Given the description of an element on the screen output the (x, y) to click on. 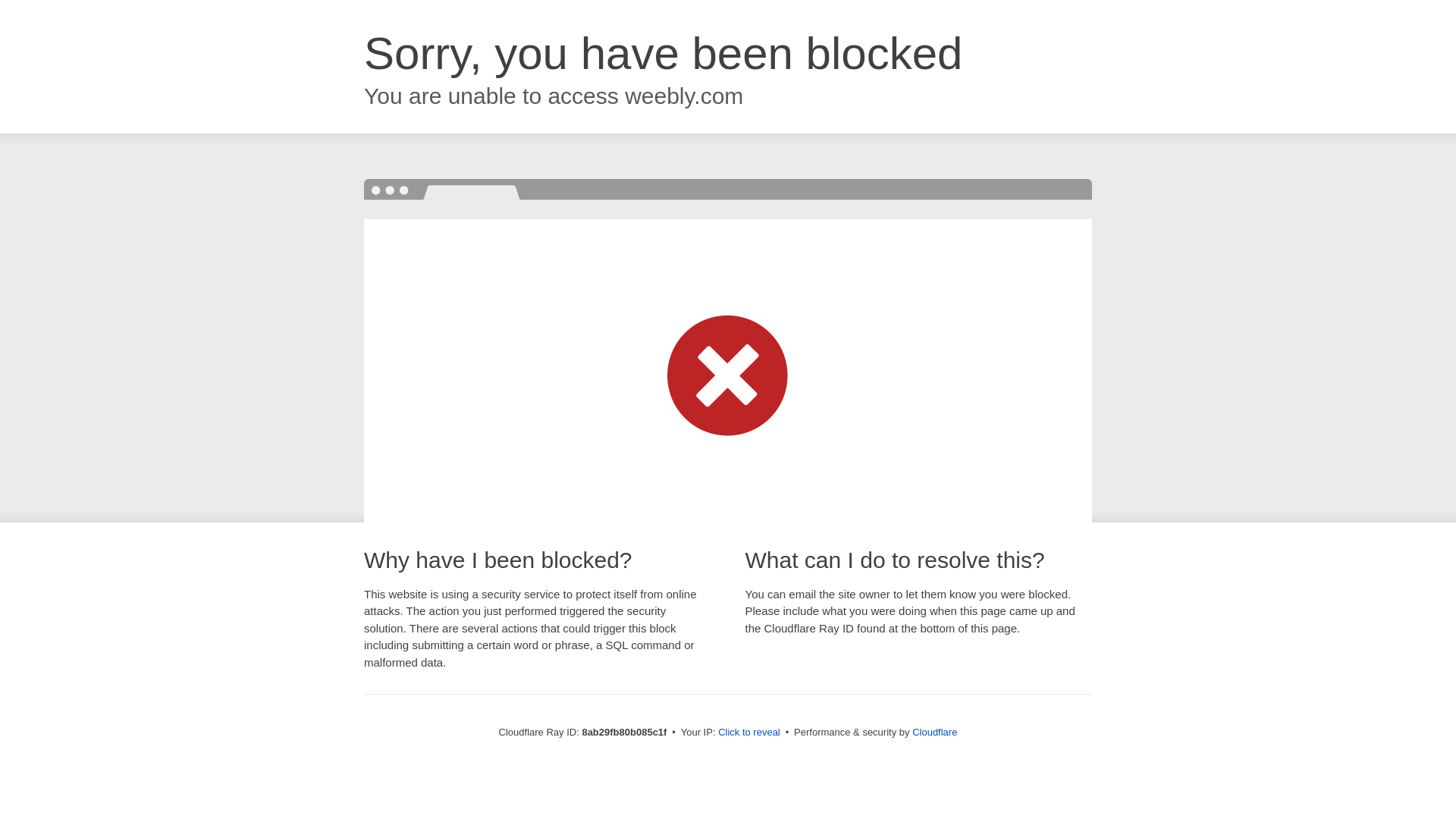
Click to reveal (748, 732)
Cloudflare (934, 731)
